Given the description of an element on the screen output the (x, y) to click on. 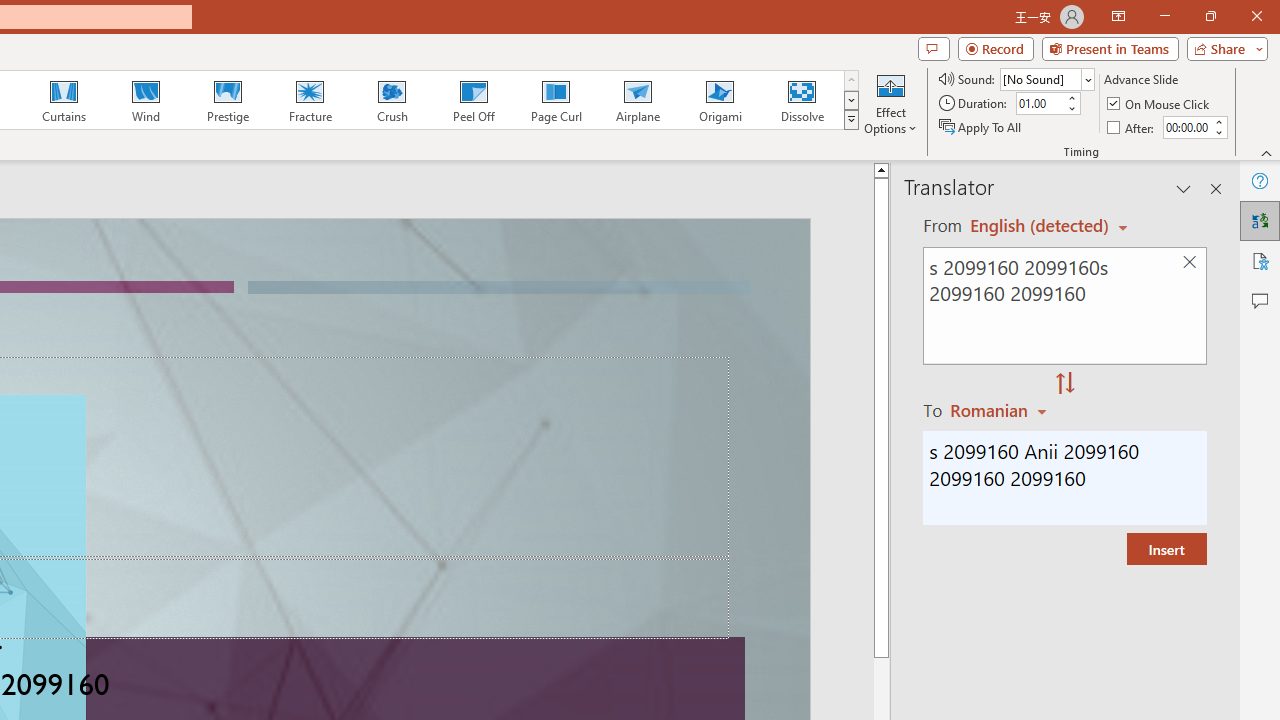
On Mouse Click (1159, 103)
Crush (391, 100)
Prestige (227, 100)
Fracture (309, 100)
Romanian (1001, 409)
After (1131, 126)
Czech (detected) (1039, 225)
After (1186, 127)
